Given the description of an element on the screen output the (x, y) to click on. 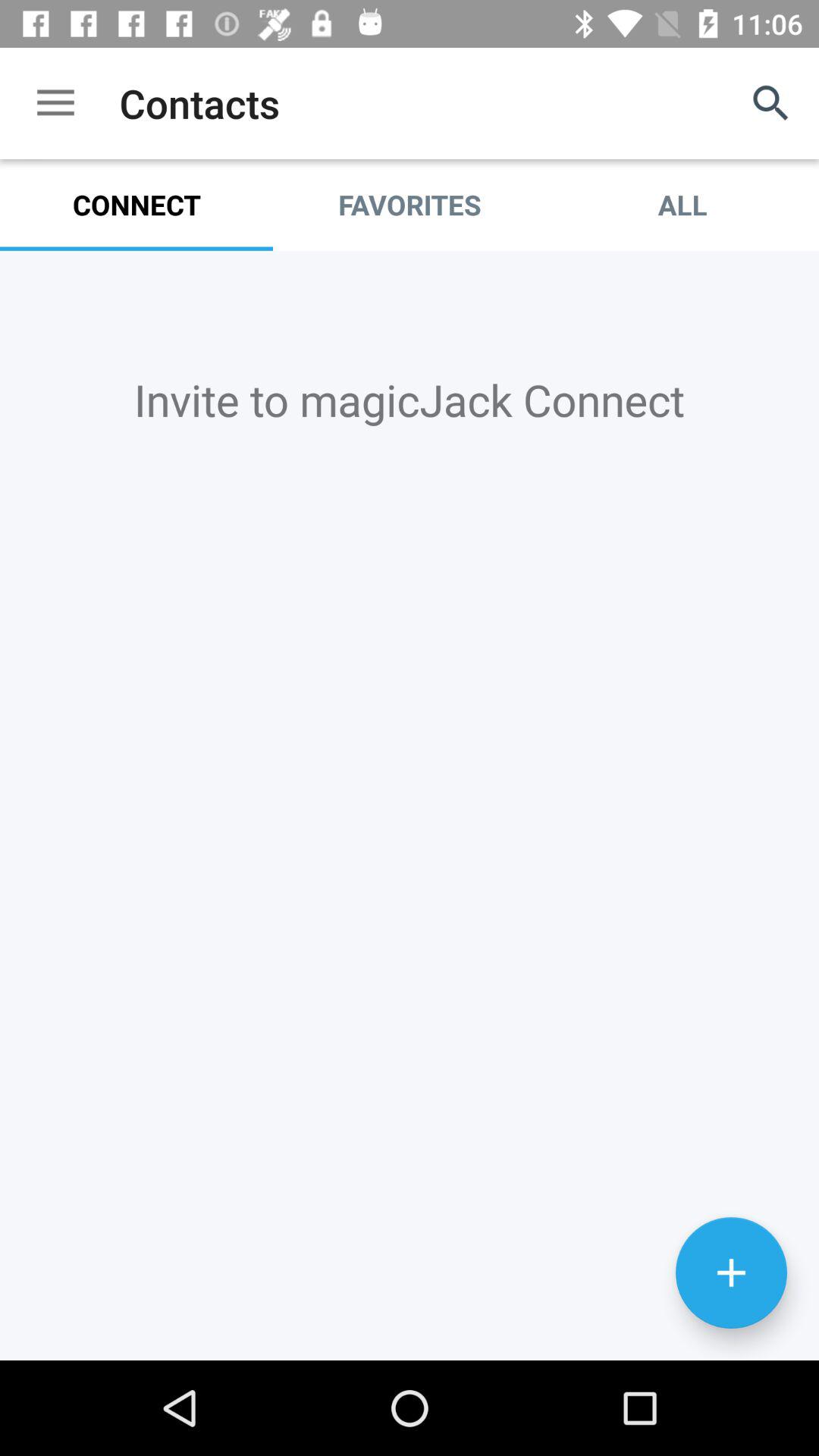
open the icon next to the favorites item (771, 103)
